Given the description of an element on the screen output the (x, y) to click on. 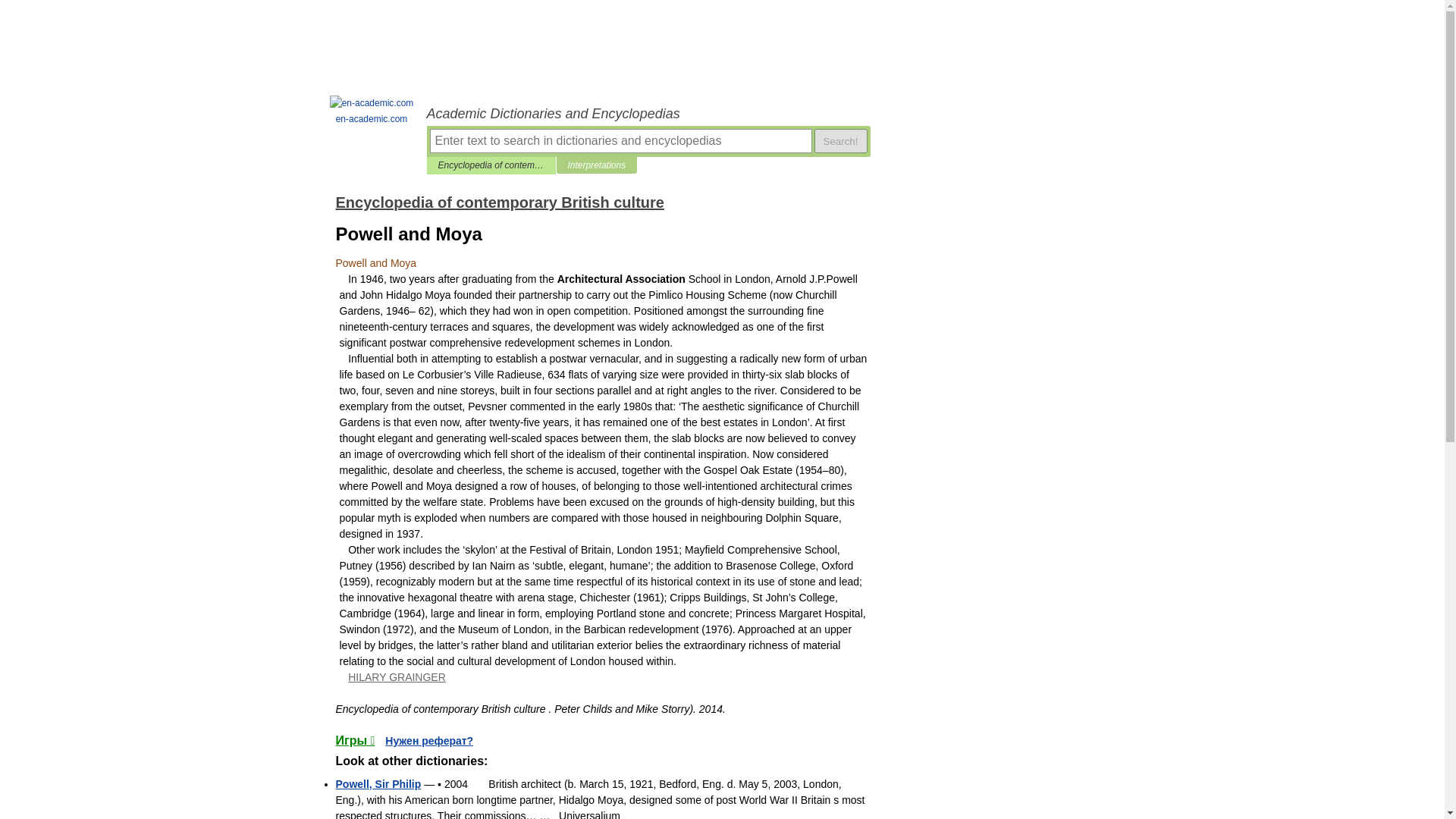
Powell, Sir Philip (377, 784)
Search! (840, 140)
Interpretations (596, 165)
Academic Dictionaries and Encyclopedias (647, 114)
en-academic.com (371, 111)
Enter text to search in dictionaries and encyclopedias (619, 140)
Encyclopedia of contemporary British culture (491, 165)
Encyclopedia of contemporary British culture (498, 202)
